Given the description of an element on the screen output the (x, y) to click on. 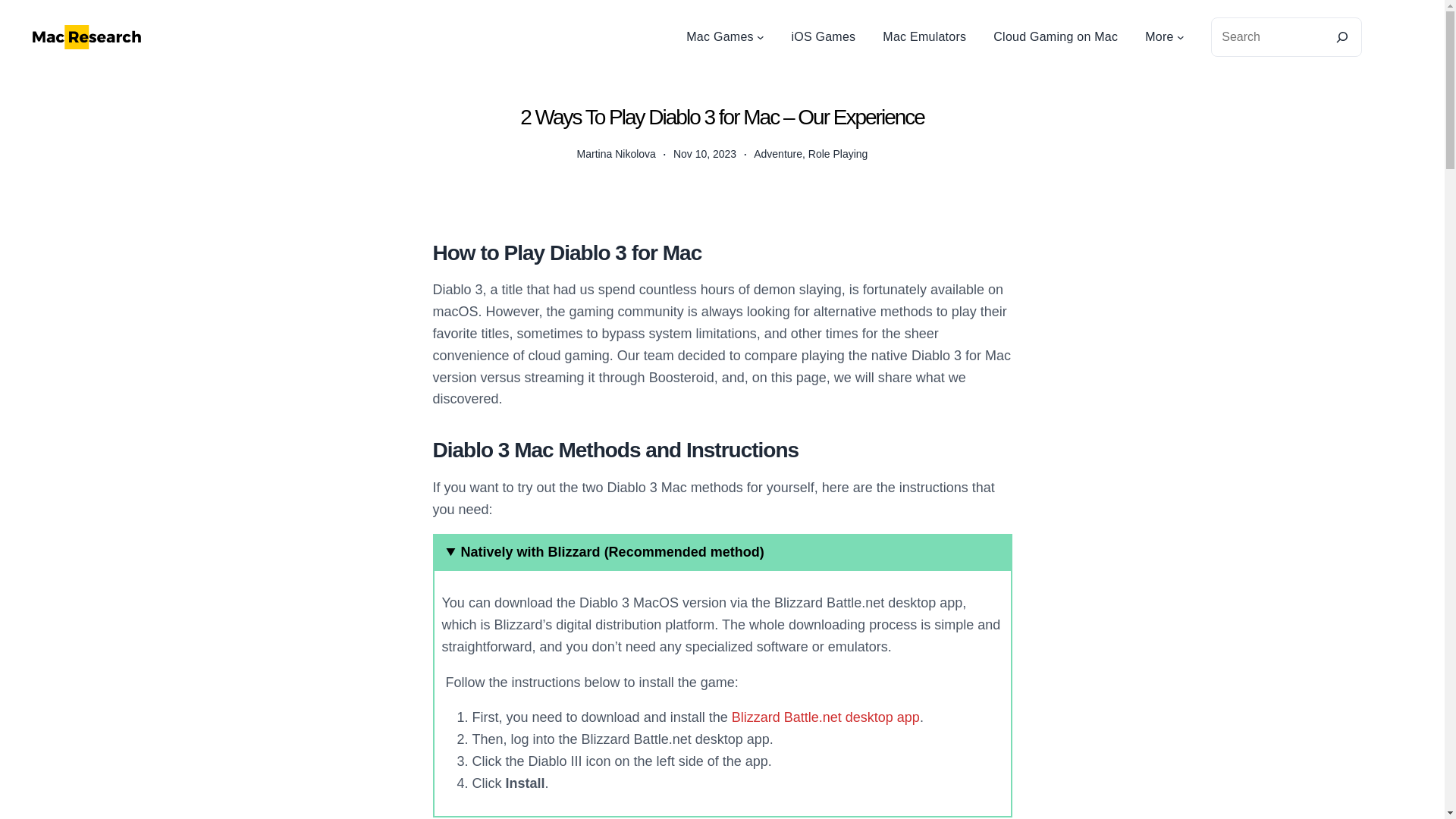
Mac Emulators (924, 36)
Adventure (778, 153)
Cloud Gaming on Mac (1055, 36)
Role Playing (837, 153)
More (1158, 36)
iOS Games (823, 36)
Blizzard Battle.net desktop app (826, 717)
Mac Games (719, 36)
